Given the description of an element on the screen output the (x, y) to click on. 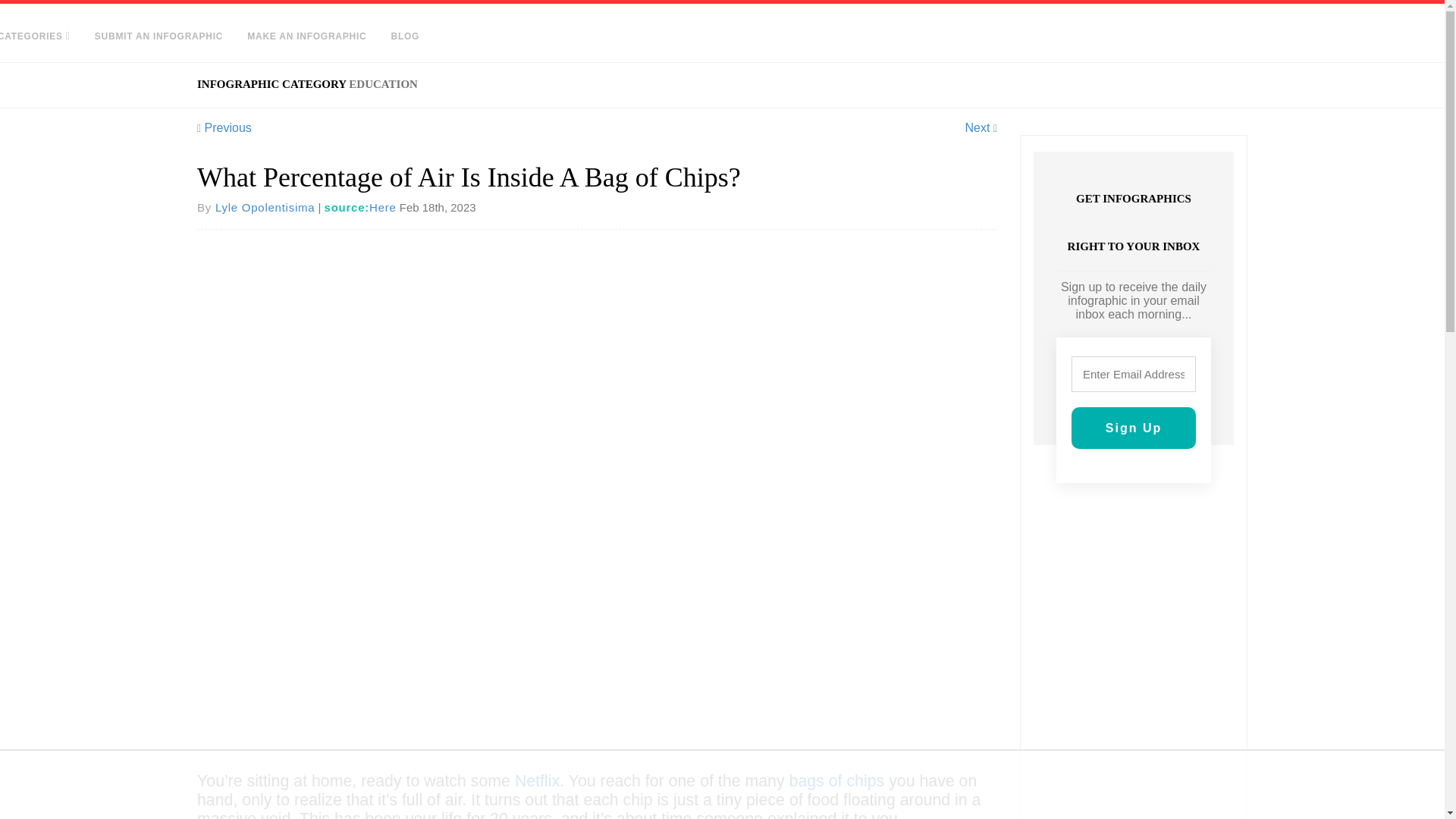
CATEGORIES (40, 36)
MAKE AN INFOGRAPHIC (306, 36)
SUBMIT AN INFOGRAPHIC (158, 36)
Posts by Lyle Opolentisima (264, 206)
